Given the description of an element on the screen output the (x, y) to click on. 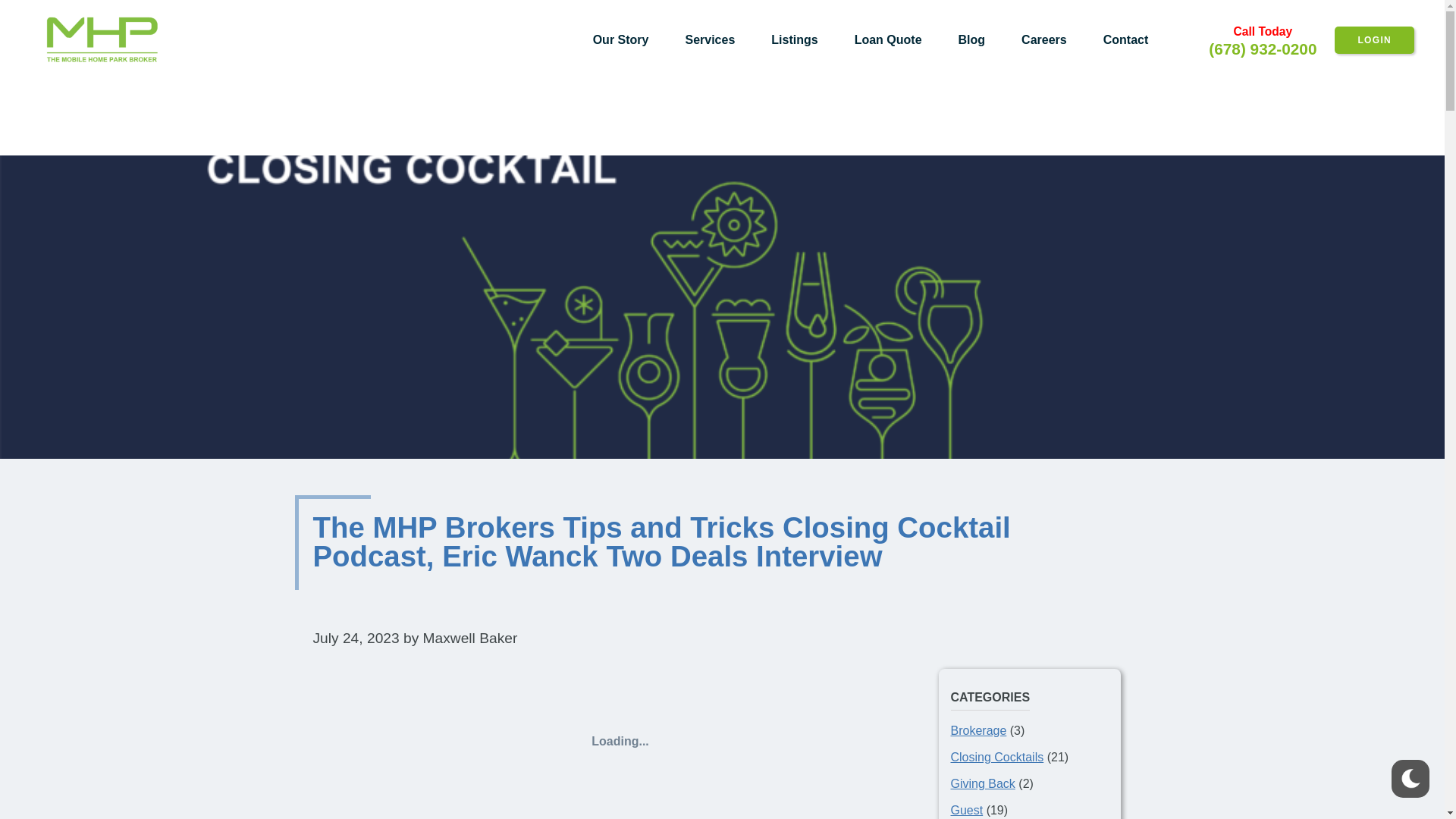
Giving Back (982, 783)
Guest (967, 809)
Embed Player (619, 741)
Brokerage (978, 730)
Loan Quote (887, 39)
Services (709, 39)
Blog (972, 39)
Listings (793, 39)
Our Story (620, 39)
Contact (1125, 39)
Closing Cocktails (996, 757)
LOGIN (1374, 40)
Careers (1043, 39)
